Given the description of an element on the screen output the (x, y) to click on. 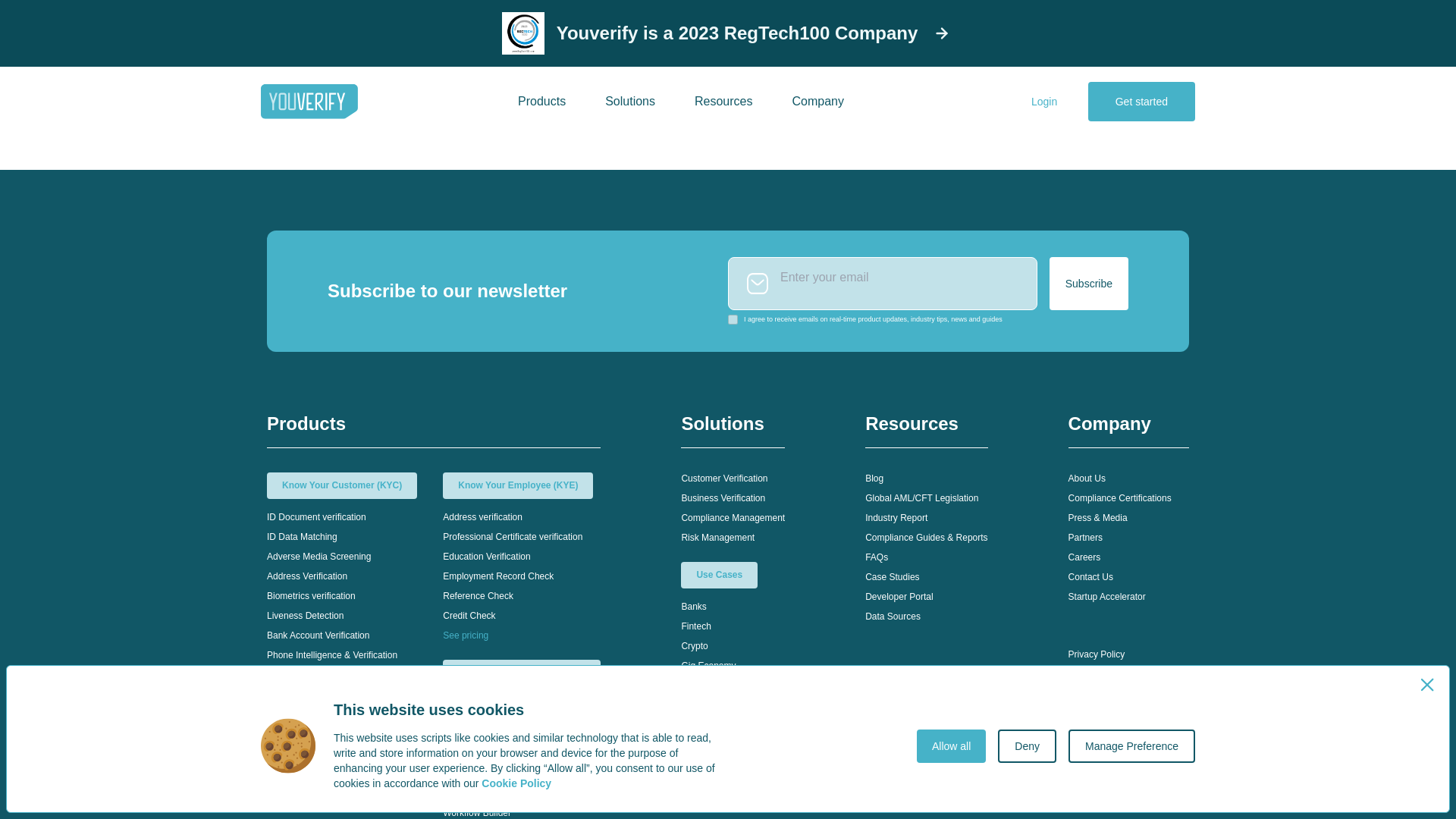
on (733, 319)
